Given the description of an element on the screen output the (x, y) to click on. 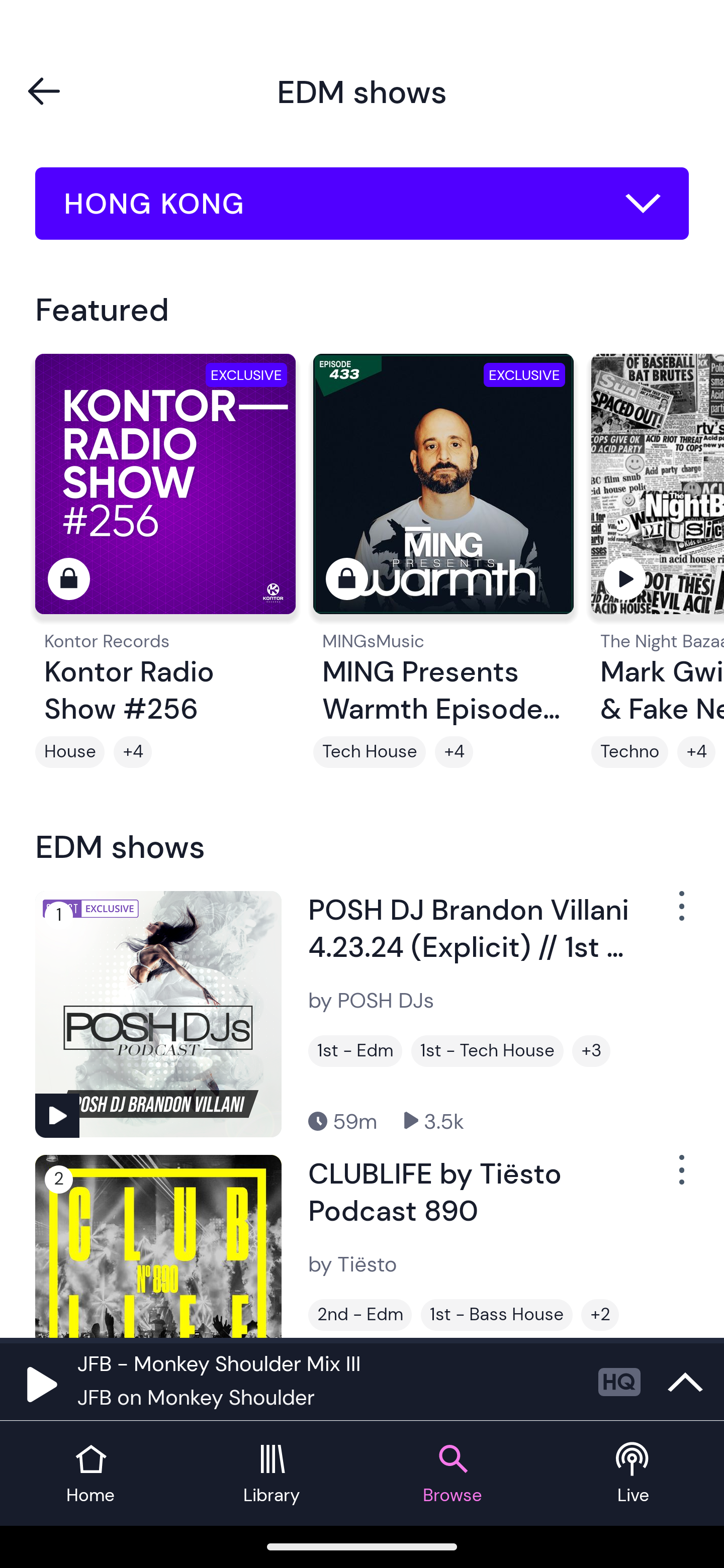
HONG KONG (361, 203)
EXCLUSIVE (165, 492)
EXCLUSIVE (443, 492)
House (69, 752)
Tech House (369, 752)
Techno (629, 752)
Show Options Menu Button (679, 913)
1st - Edm (355, 1050)
1st - Tech House (487, 1050)
Show Options Menu Button (679, 1178)
2nd - Edm (359, 1315)
1st - Bass House (496, 1315)
Home tab Home (90, 1473)
Library tab Library (271, 1473)
Browse tab Browse (452, 1473)
Live tab Live (633, 1473)
